Given the description of an element on the screen output the (x, y) to click on. 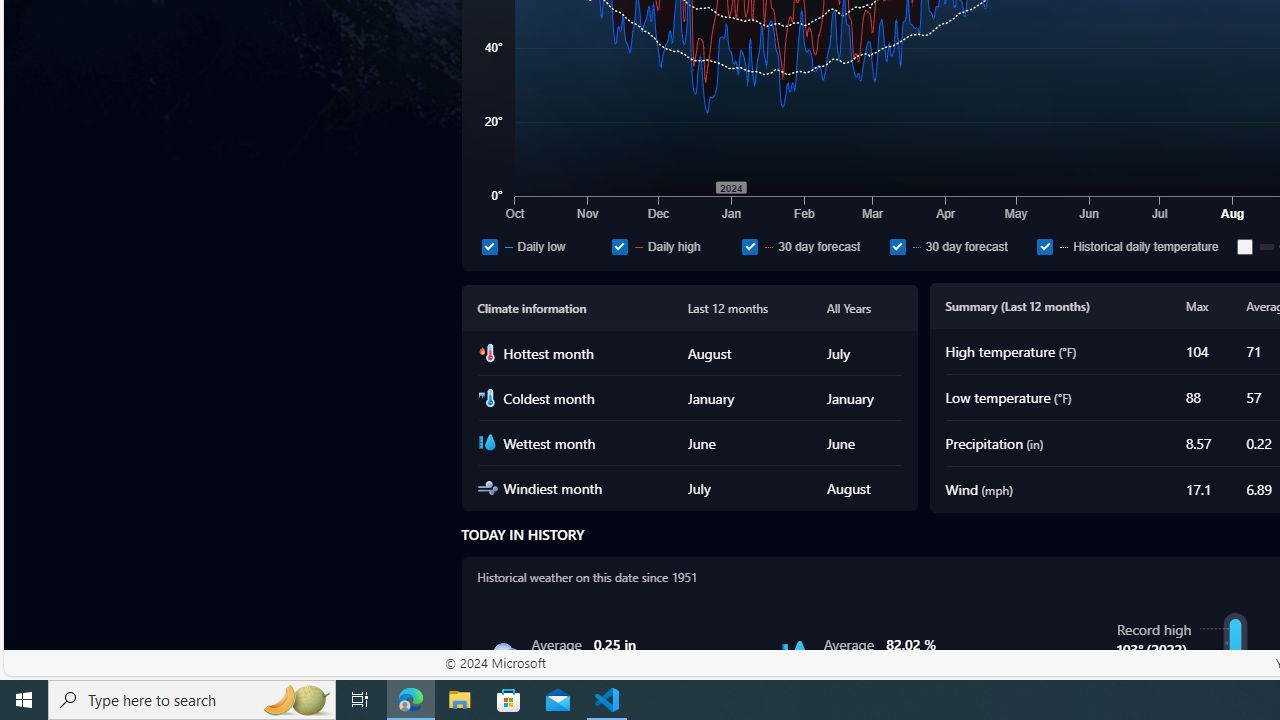
Historical daily temperature (1044, 246)
Confidence (1245, 246)
Daily low (542, 246)
Daily high (619, 246)
30 day forecast (897, 246)
Rain (502, 654)
Humidity (795, 654)
Historical daily temperature (1133, 246)
Daily high (672, 246)
Daily low (489, 246)
30 day forecast (959, 246)
